Given the description of an element on the screen output the (x, y) to click on. 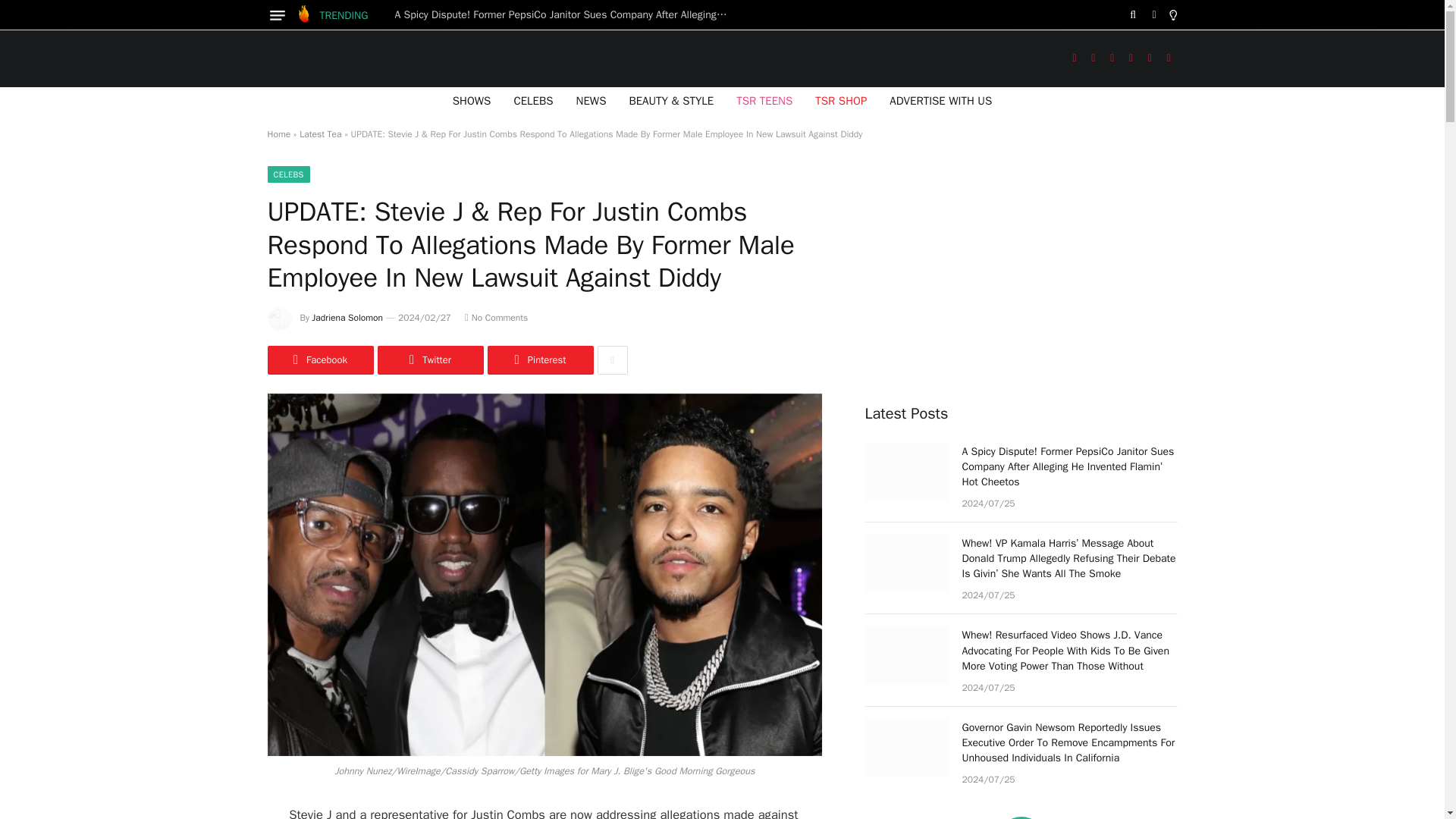
Switch to Dark Design - easier on eyes. (1153, 14)
Posts by Jadriena Solomon (347, 317)
Share on Pinterest (539, 359)
Share on Facebook (319, 359)
SHOWS (471, 99)
Show More Social Sharing (611, 359)
